Given the description of an element on the screen output the (x, y) to click on. 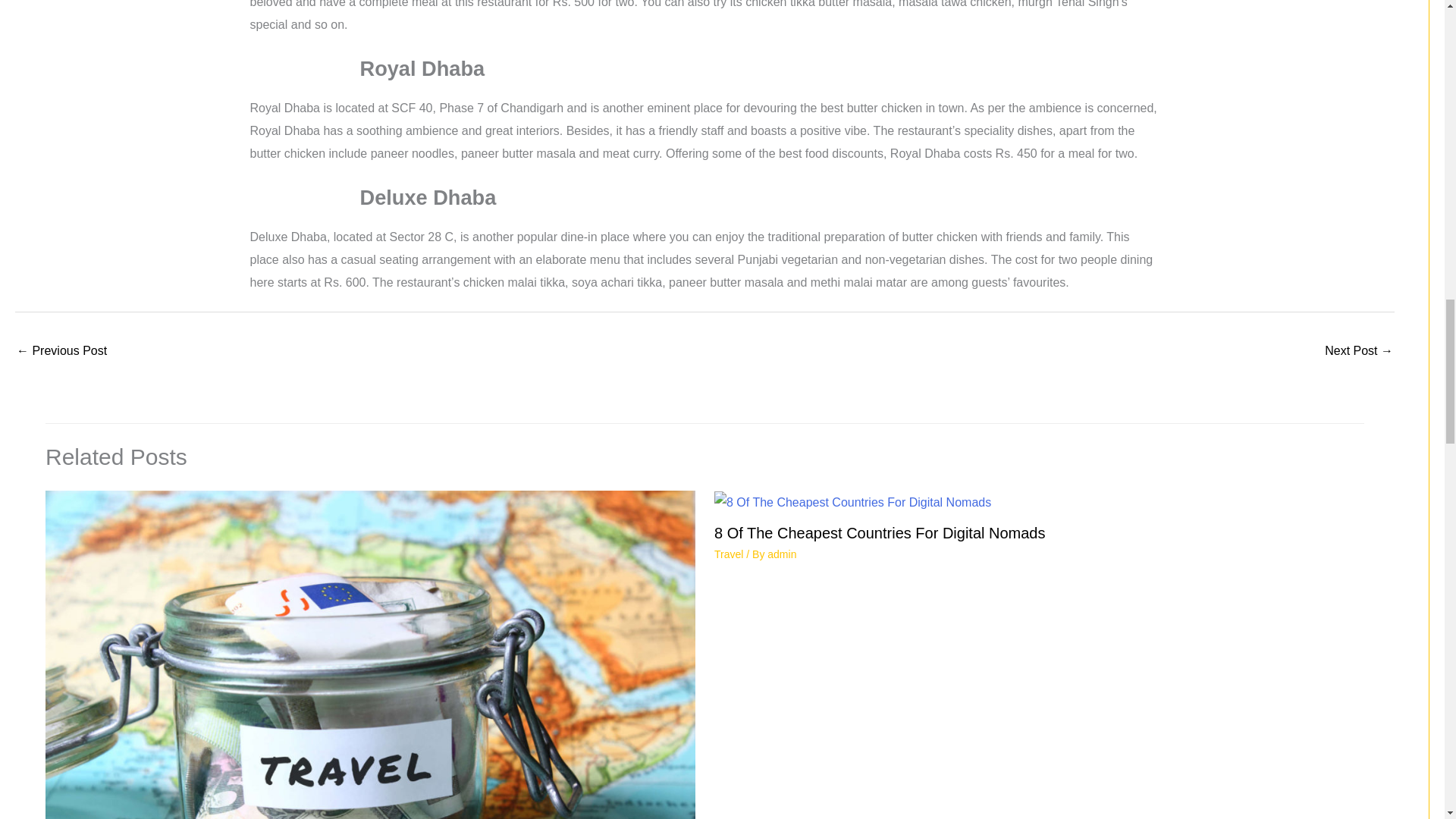
Designing a multifunctional kitchen (61, 352)
A Guide to Safely Biking During Rush Hour Traffic (1358, 352)
View all posts by admin (781, 553)
